Given the description of an element on the screen output the (x, y) to click on. 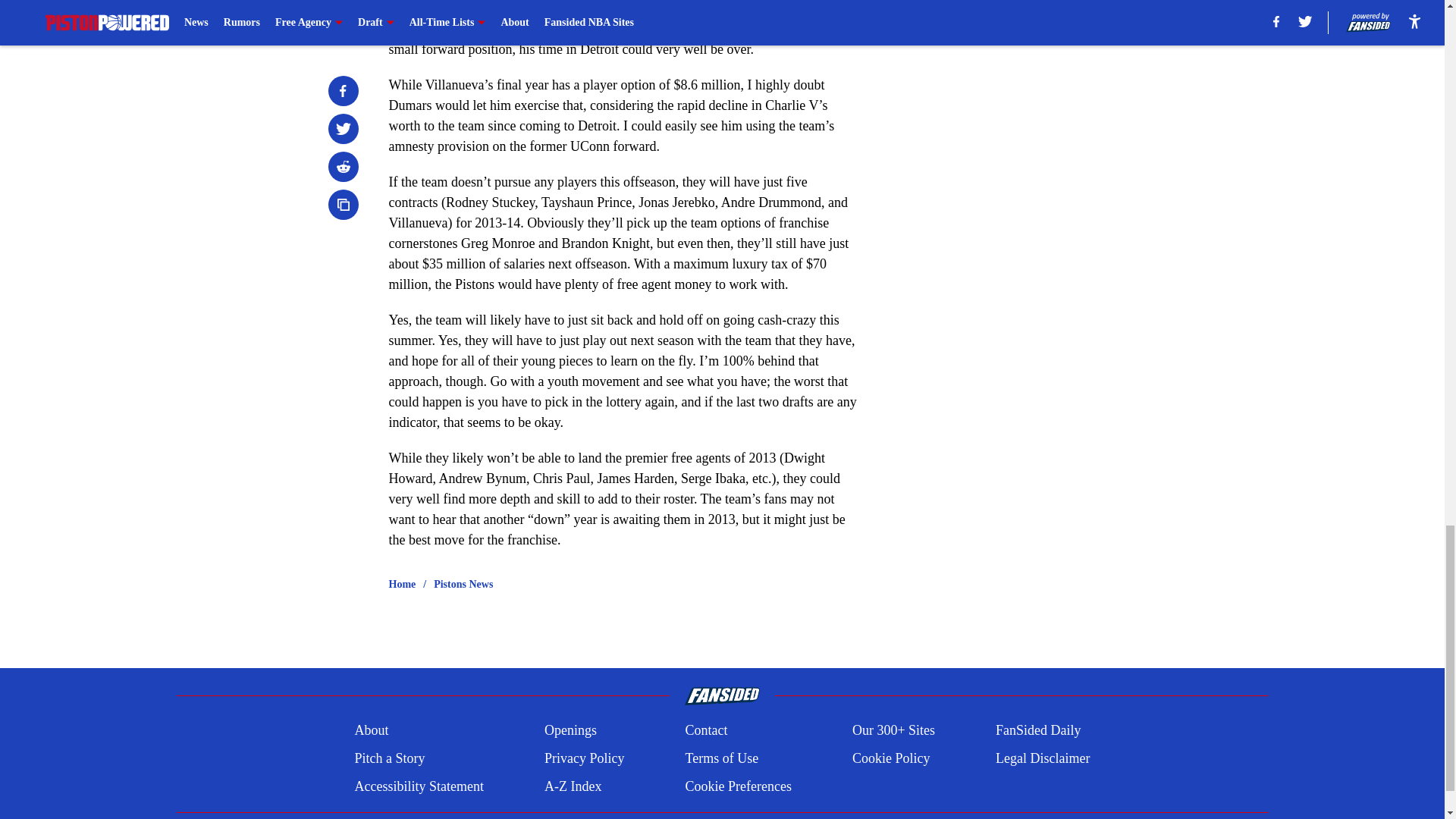
Contact (705, 730)
Privacy Policy (584, 758)
Pistons News (463, 584)
About (370, 730)
Home (401, 584)
Pitch a Story (389, 758)
Openings (570, 730)
FanSided Daily (1038, 730)
